Given the description of an element on the screen output the (x, y) to click on. 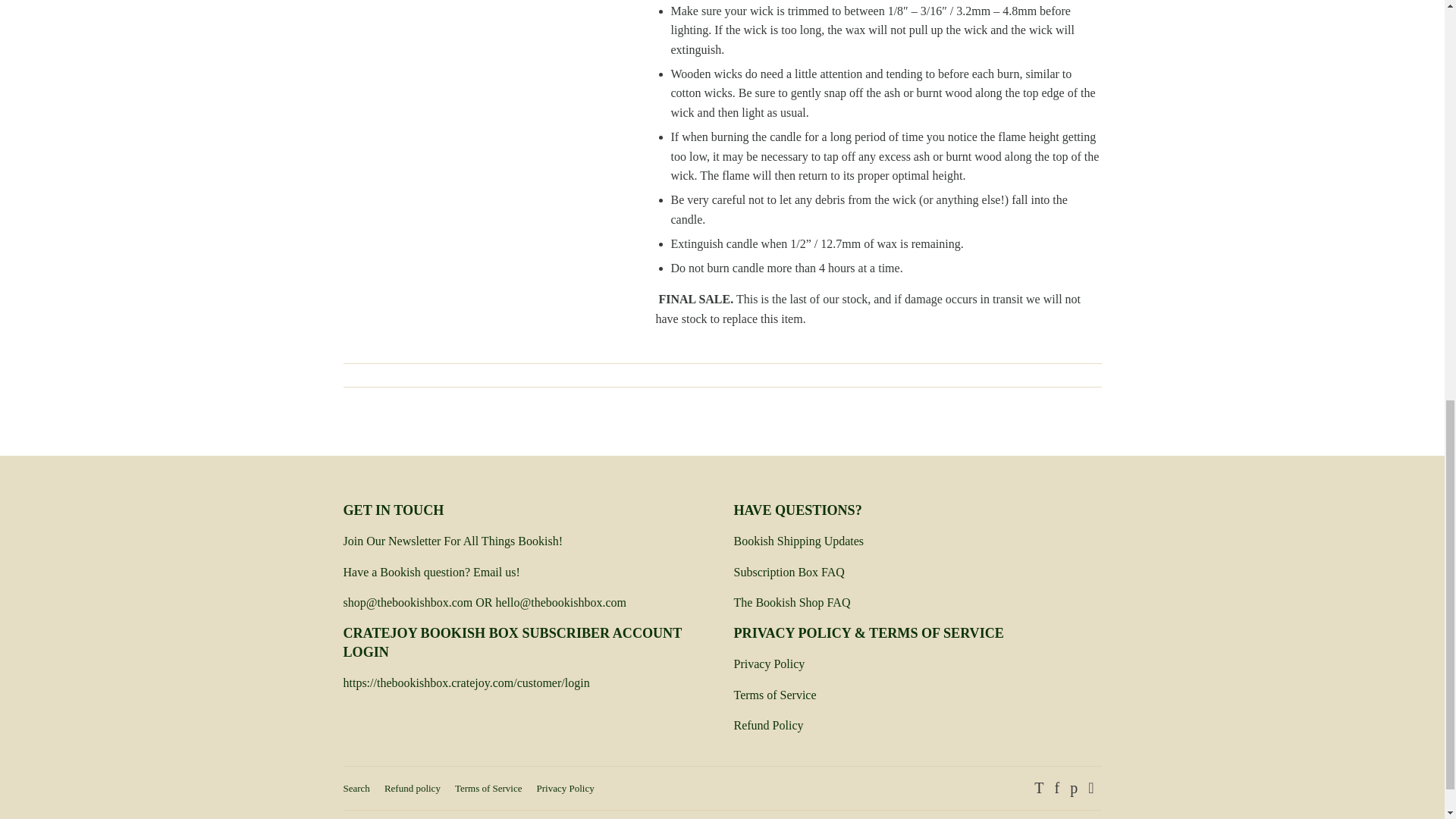
The Bookish Shop  on Pinterest (1073, 788)
Terms of Service (774, 694)
The Bookish Shop  on Facebook (1056, 788)
The Bookish Shop  on Instagram (1090, 788)
Bookish Shop FAQ Page (791, 602)
Shipping Updates Page (798, 540)
The Bookish Shop  on Twitter (1038, 788)
